Given the description of an element on the screen output the (x, y) to click on. 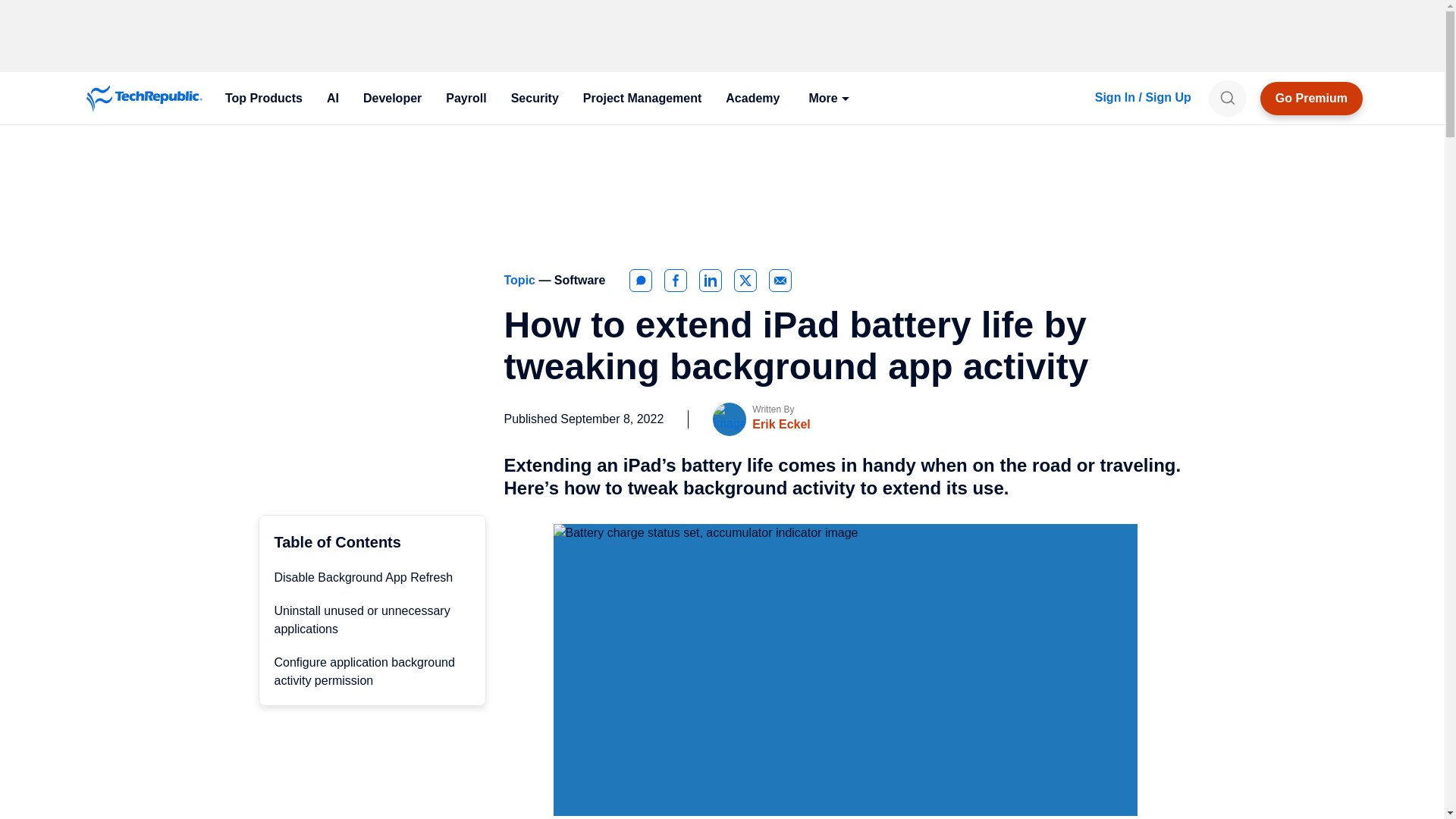
Topic (520, 279)
TechRepublic Premium (1311, 98)
Top Products (263, 98)
Security (534, 98)
Developer (392, 98)
Disable Background App Refresh (363, 576)
Go Premium (1311, 98)
Payroll (465, 98)
Configure application background activity permission (364, 671)
TechRepublic (143, 98)
TechRepublic (143, 98)
Uninstall unused or unnecessary applications (362, 619)
Project Management (641, 98)
Academy (752, 98)
TechRepublic (143, 98)
